Given the description of an element on the screen output the (x, y) to click on. 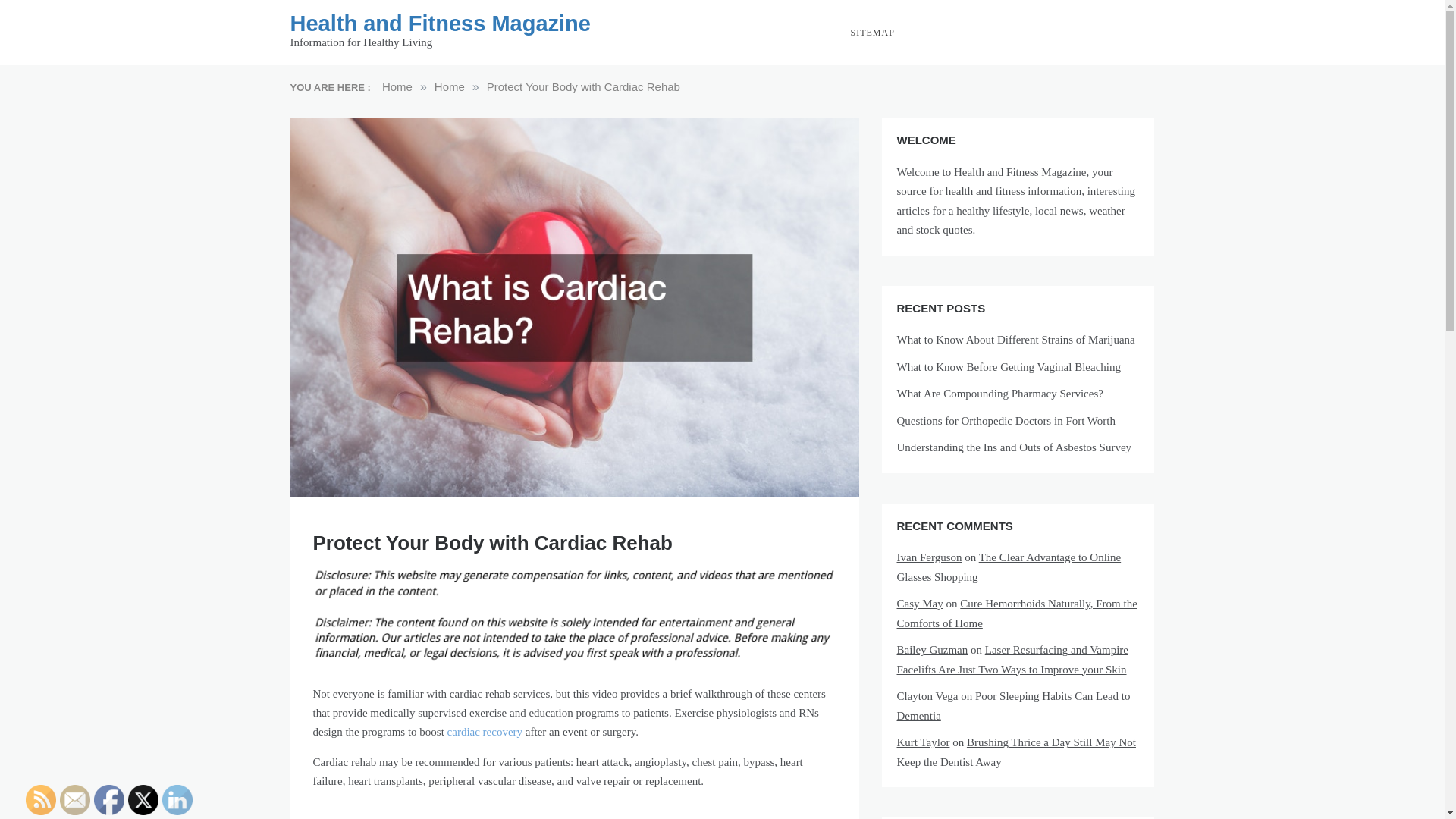
RSS (41, 799)
Health and Fitness Magazine (439, 23)
Bailey Guzman (932, 649)
Twitter (143, 799)
What to Know Before Getting Vaginal Bleaching (1007, 367)
Home (396, 86)
What Are Compounding Pharmacy Services? (999, 393)
Cure Hemorrhoids Naturally, From the Comforts of Home (1016, 613)
Understanding the Ins and Outs of Asbestos Survey (1013, 447)
